Given the description of an element on the screen output the (x, y) to click on. 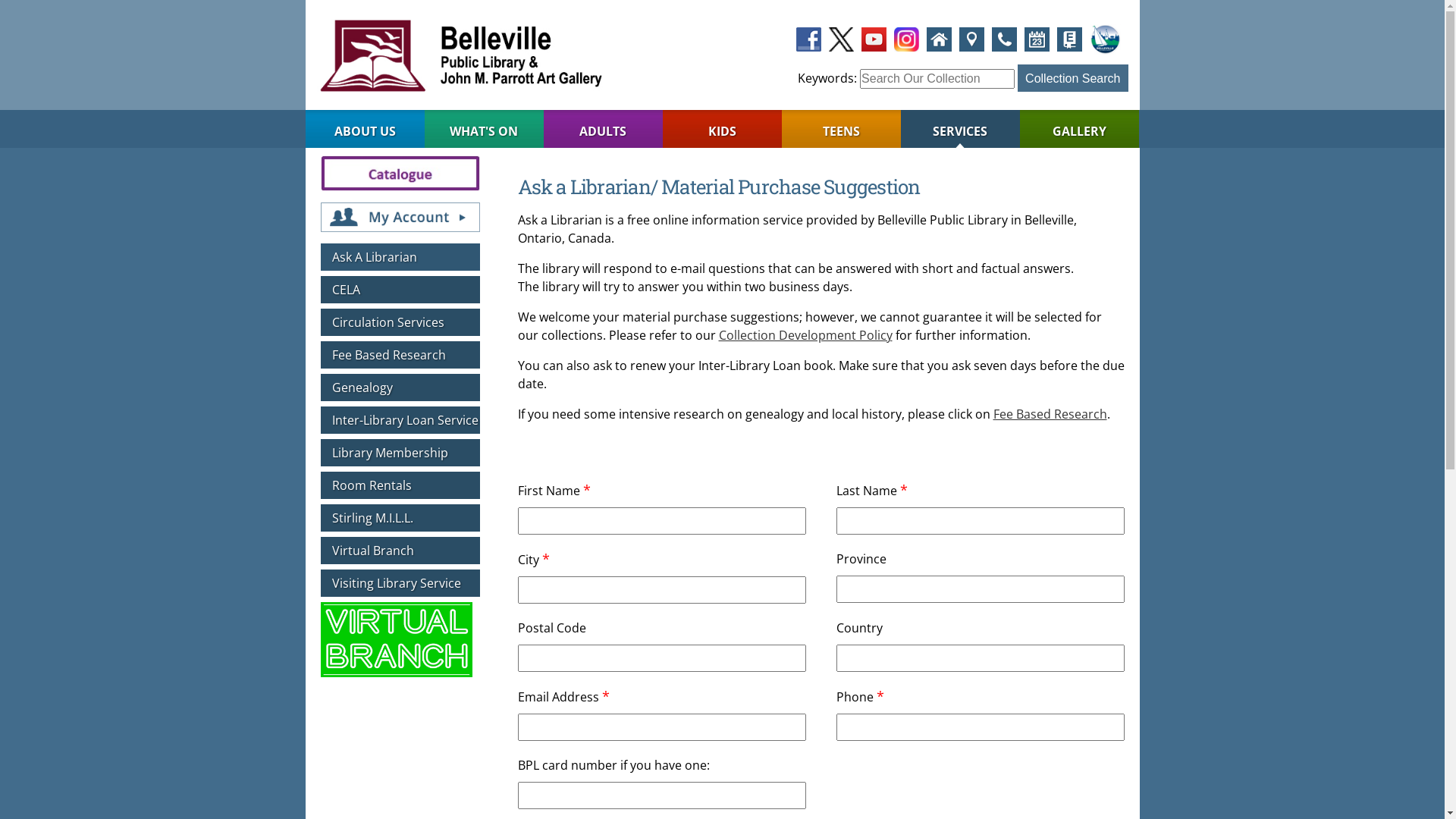
Circulation Services Element type: text (399, 321)
Virtual Branch Element type: text (399, 550)
Facebook Element type: hover (807, 37)
Stirling M.I.L.L. Element type: text (399, 517)
Fee Based Research Element type: text (399, 354)
Virtual Branch Element type: hover (395, 643)
CELA Element type: text (399, 289)
YouTube Element type: hover (872, 37)
Inter-Library Loan Service Element type: text (399, 419)
Room Rentals Element type: text (399, 484)
Collection Search Element type: text (1072, 77)
GALLERY Element type: text (1079, 128)
Instagram Element type: hover (906, 37)
Fee Based Research Element type: text (1050, 413)
Catalogue Element type: hover (399, 171)
ADULTS Element type: text (602, 128)
Library Membership Element type: text (399, 452)
WHAT'S ON Element type: text (483, 128)
ABOUT US Element type: text (363, 128)
SERVICES Element type: text (959, 128)
X Element type: hover (841, 37)
TEENS Element type: text (840, 128)
KIDS Element type: text (721, 128)
Visiting Library Service Element type: text (399, 582)
Genealogy Element type: text (399, 387)
My Account Element type: hover (399, 209)
Ask A Librarian Element type: text (399, 256)
Collection Development Policy Element type: text (805, 334)
